Given the description of an element on the screen output the (x, y) to click on. 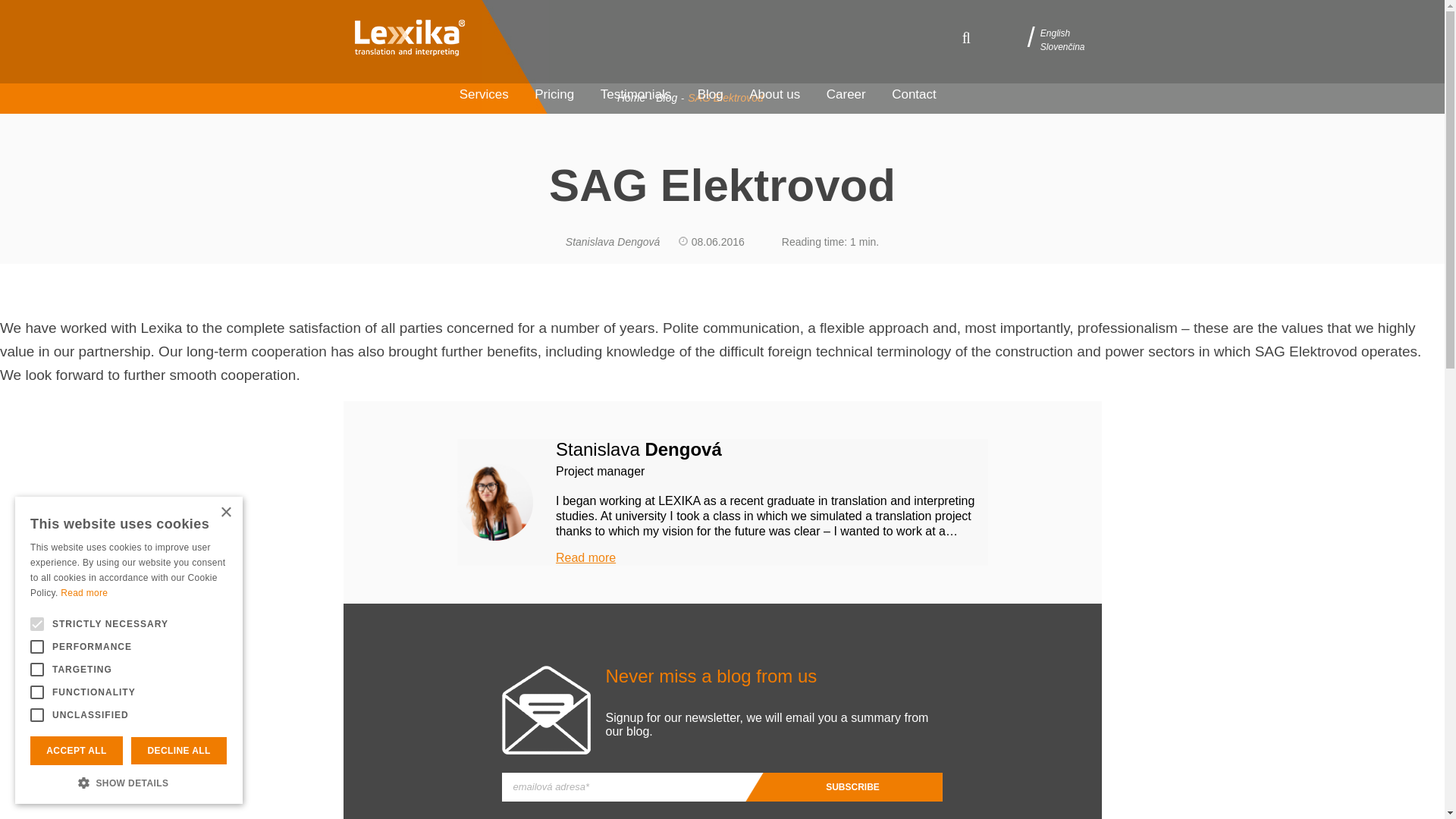
English (1055, 32)
Career (846, 93)
SAG Elektrovod (724, 97)
About us (774, 93)
Home (631, 97)
Testimonials (635, 93)
Blog (666, 97)
Blog (710, 93)
Contact (913, 93)
Pricing (553, 93)
Services (484, 93)
